Given the description of an element on the screen output the (x, y) to click on. 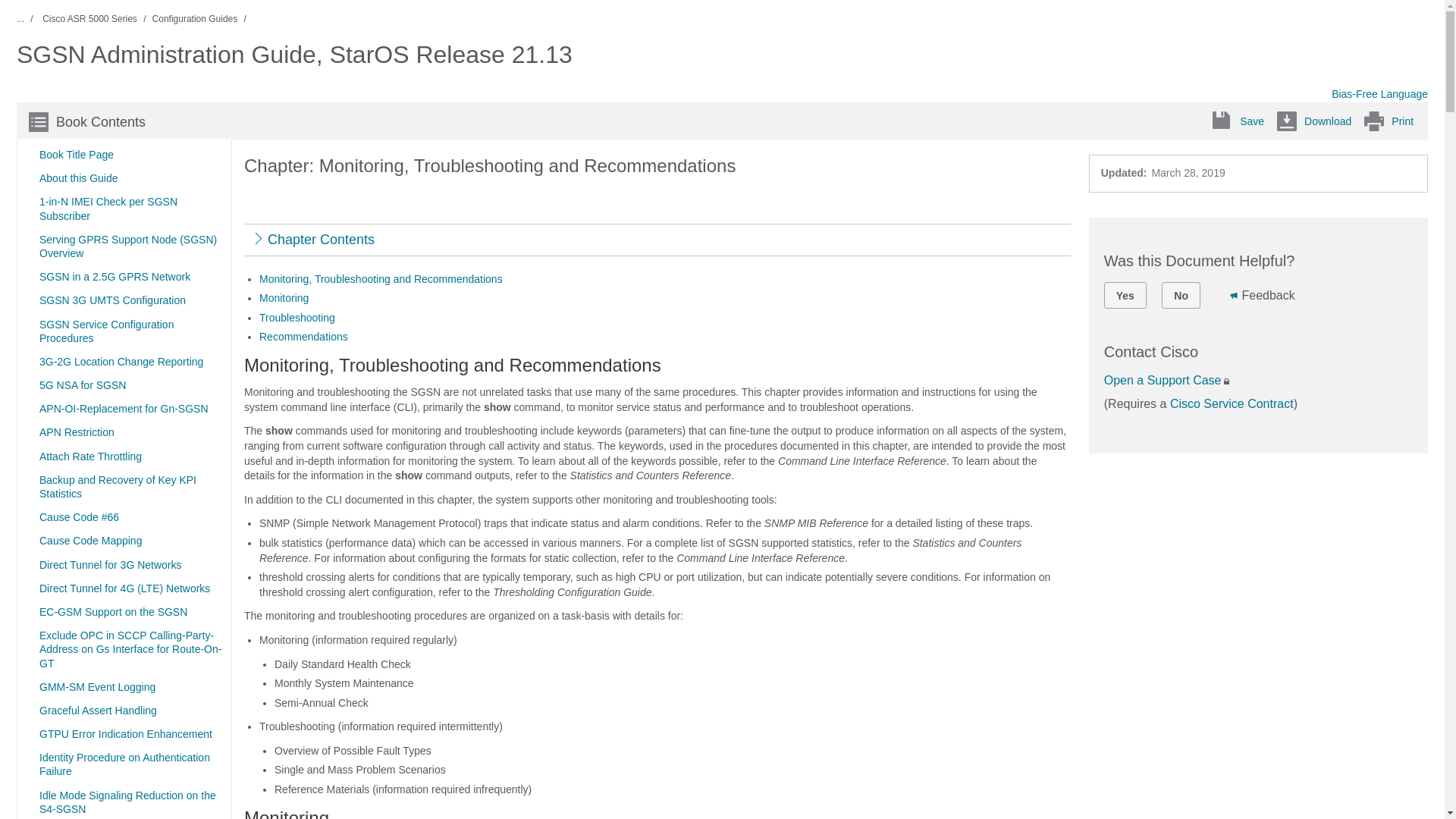
SGSN in a 2.5G GPRS Network (113, 276)
APN-OI-Replacement for Gn-SGSN (122, 408)
Configuration Guides (195, 18)
Document Download Options (1313, 120)
Feedback (1233, 294)
Book Contents (86, 121)
Bias-Free Language (1380, 93)
APN Restriction (75, 431)
1-in-N IMEI Check per SGSN Subscriber (129, 207)
SGSN 3G UMTS Configuration (111, 300)
5G NSA for SGSN (80, 384)
Show All Breadcrumbs (27, 19)
3G-2G Location Change Reporting (119, 361)
Print Friendly Page (1387, 120)
SGSN Service Configuration Procedures (129, 330)
